Given the description of an element on the screen output the (x, y) to click on. 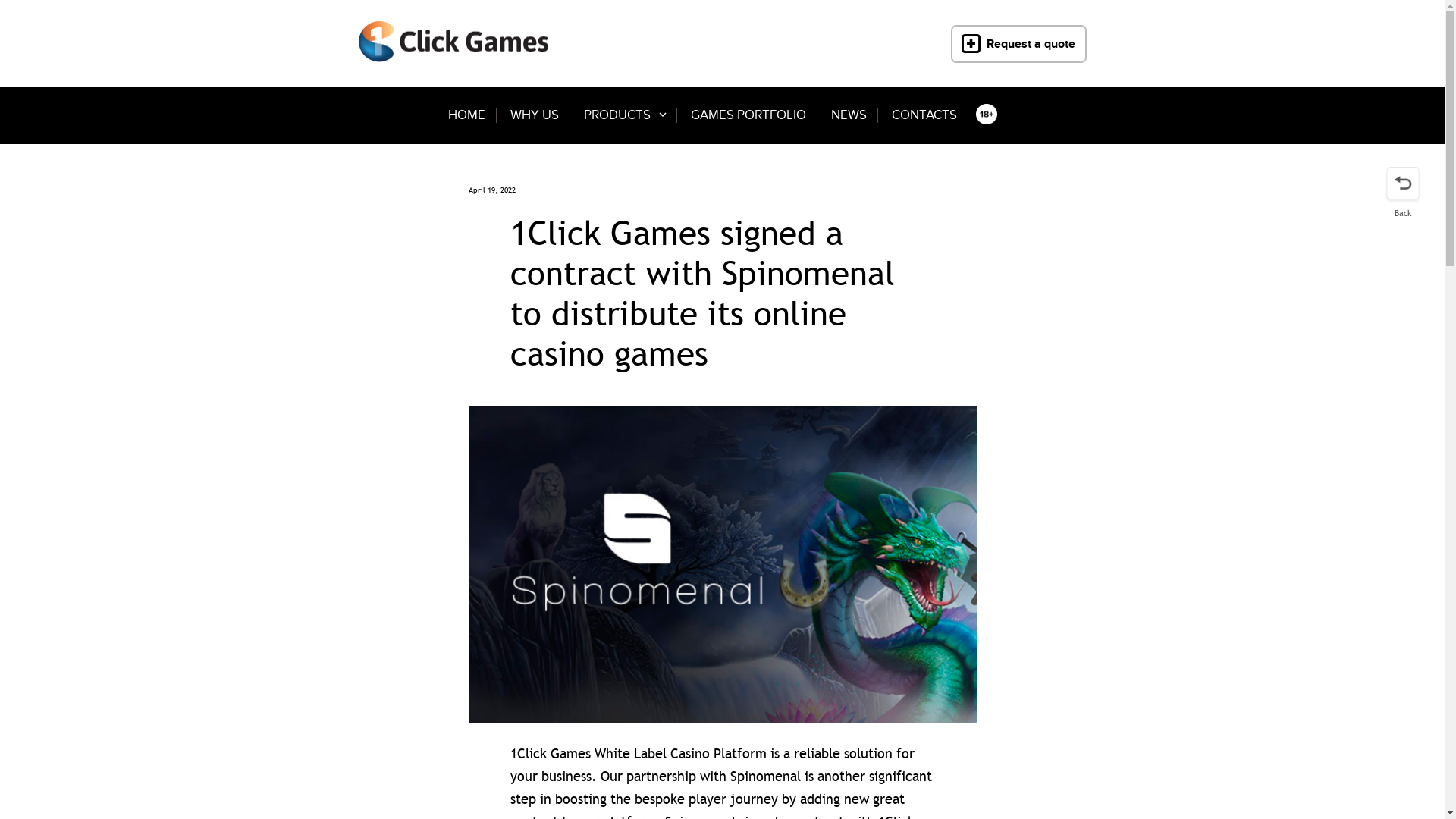
Request a quote Element type: text (1018, 43)
Back Element type: text (1402, 192)
NEWS Element type: text (848, 115)
CONTACTS Element type: text (924, 115)
GAMES PORTFOLIO Element type: text (747, 115)
WHY US Element type: text (533, 115)
HOME Element type: text (465, 115)
